Given the description of an element on the screen output the (x, y) to click on. 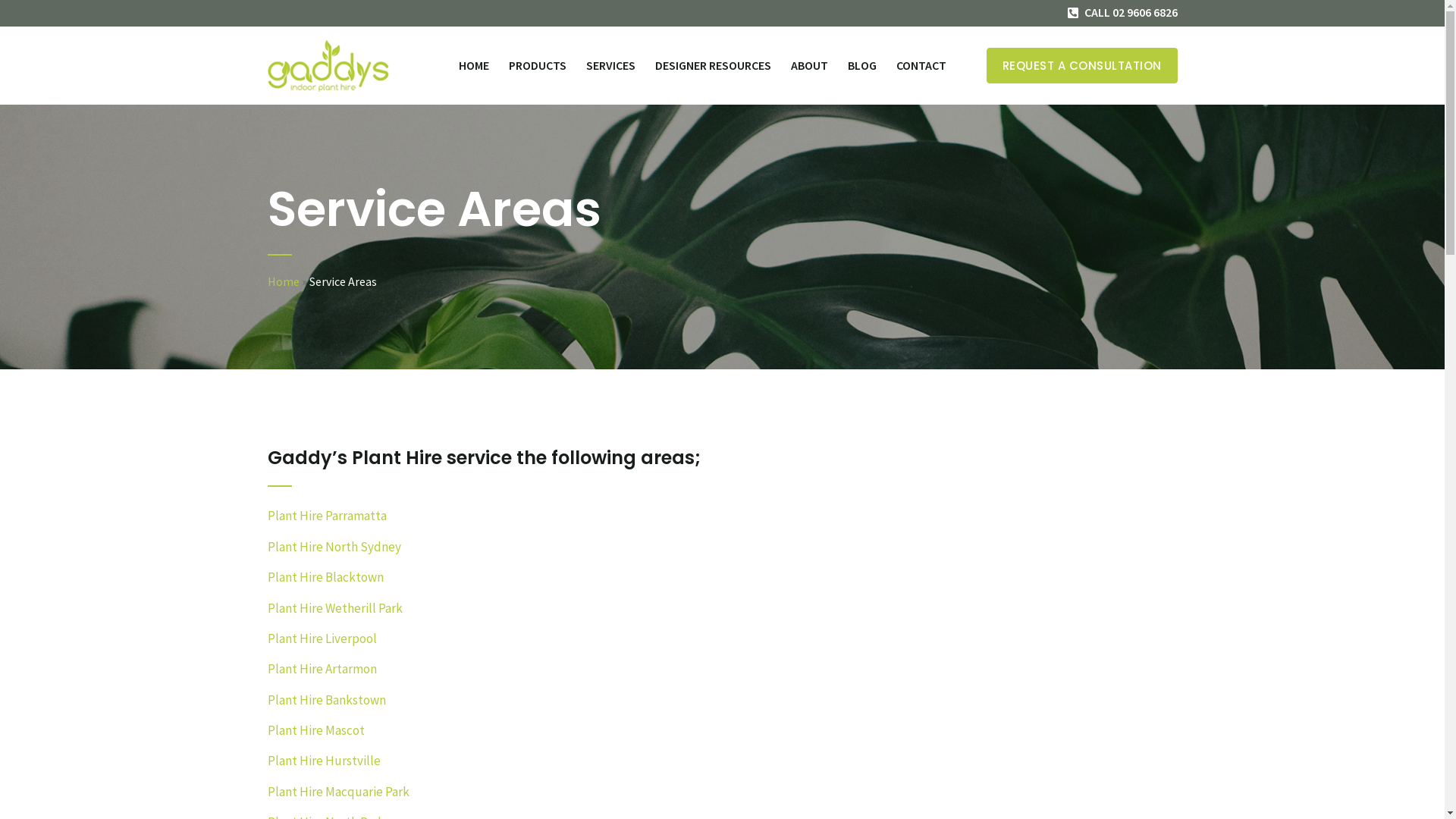
Plant Hire Bankstown Element type: text (325, 699)
Plant Hire Artarmon Element type: text (321, 669)
Plant Hire Macquarie Park Element type: text (337, 791)
Plant Hire North Sydney Element type: text (333, 546)
REQUEST A CONSULTATION Element type: text (1073, 65)
CONTACT Element type: text (920, 65)
SERVICES Element type: text (610, 65)
Plant Hire Parramatta Element type: text (325, 516)
Home Element type: text (282, 281)
DESIGNER RESOURCES Element type: text (712, 65)
BLOG Element type: text (861, 65)
HOME Element type: text (473, 65)
Plant Hire Liverpool Element type: text (321, 638)
Plant Hire Blacktown Element type: text (324, 577)
PRODUCTS Element type: text (537, 65)
Plant Hire Wetherill Park Element type: text (333, 607)
Plant Hire Hurstville Element type: text (322, 760)
CALL 02 9606 6826 Element type: text (1122, 11)
Plant Hire Mascot Element type: text (315, 729)
ABOUT Element type: text (809, 65)
